Given the description of an element on the screen output the (x, y) to click on. 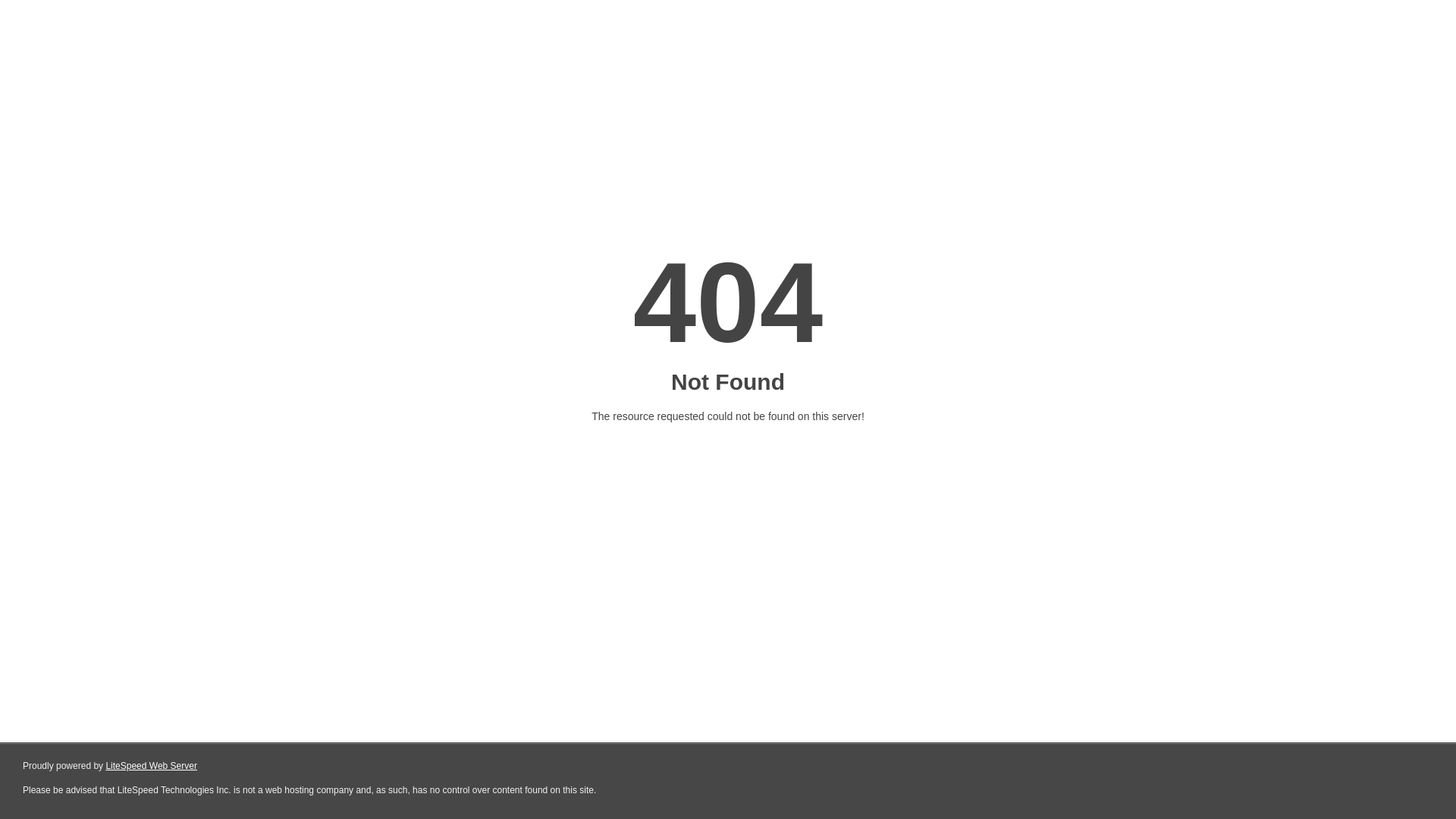
LiteSpeed Web Server Element type: text (151, 765)
